Given the description of an element on the screen output the (x, y) to click on. 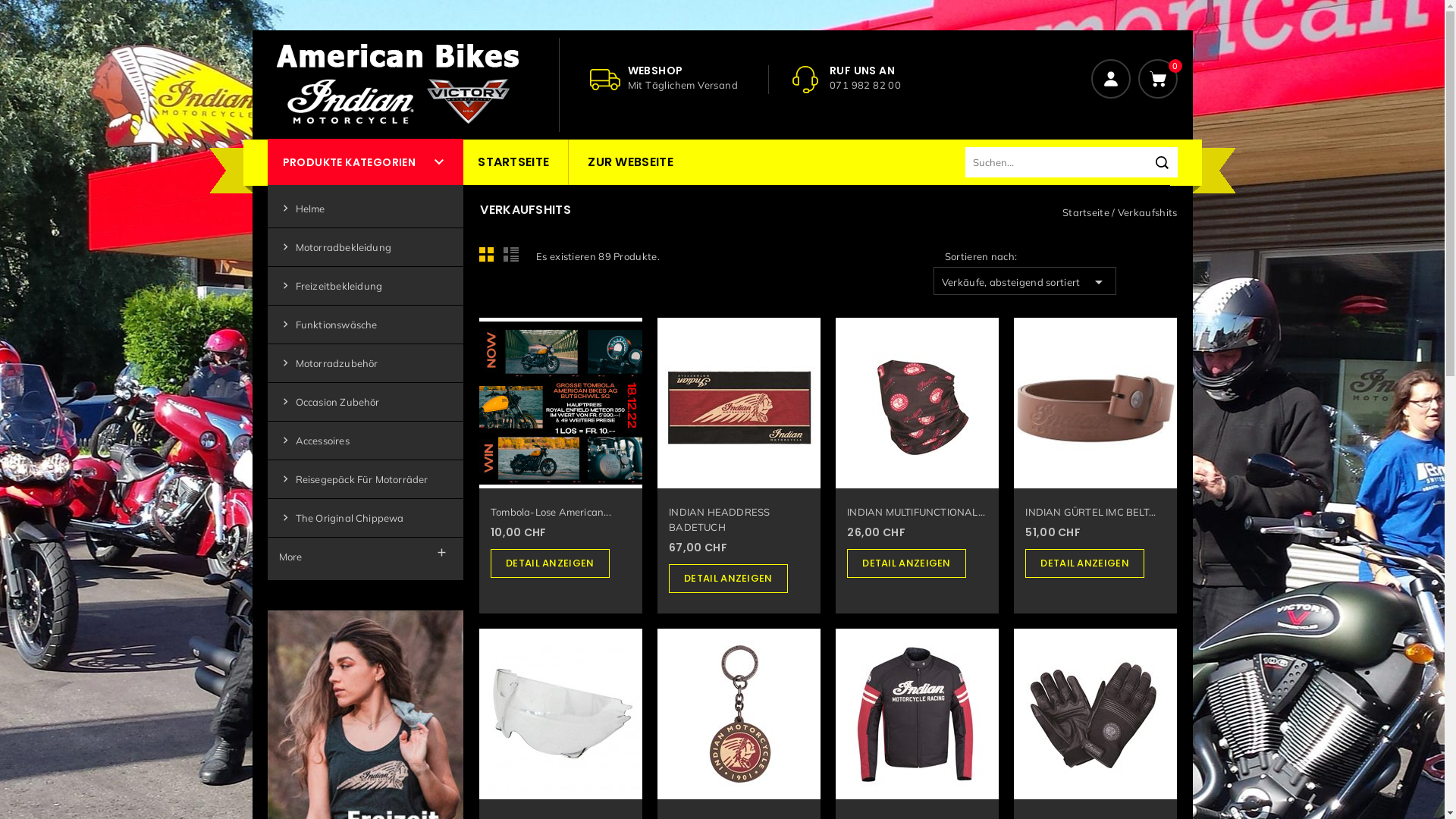
Verkaufshits Element type: text (1147, 212)
Startseite Element type: text (1086, 212)
DETAIL ANZEIGEN Element type: text (906, 563)
Grid Element type: text (490, 258)
List Element type: text (513, 258)
LeftBanner 1 Element type: hover (364, 735)
ZUR WEBSEITE Element type: text (630, 161)
STARTSEITE Element type: text (513, 161)
Tombola-Lose American... Element type: text (550, 511)
INDIAN MULTIFUNCTIONAL... Element type: text (916, 511)
DETAIL ANZEIGEN Element type: text (549, 563)
INDIAN HEADDRESS BADETUCH Element type: text (718, 519)
DETAIL ANZEIGEN Element type: text (1084, 563)
DETAIL ANZEIGEN Element type: text (727, 578)
